Given the description of an element on the screen output the (x, y) to click on. 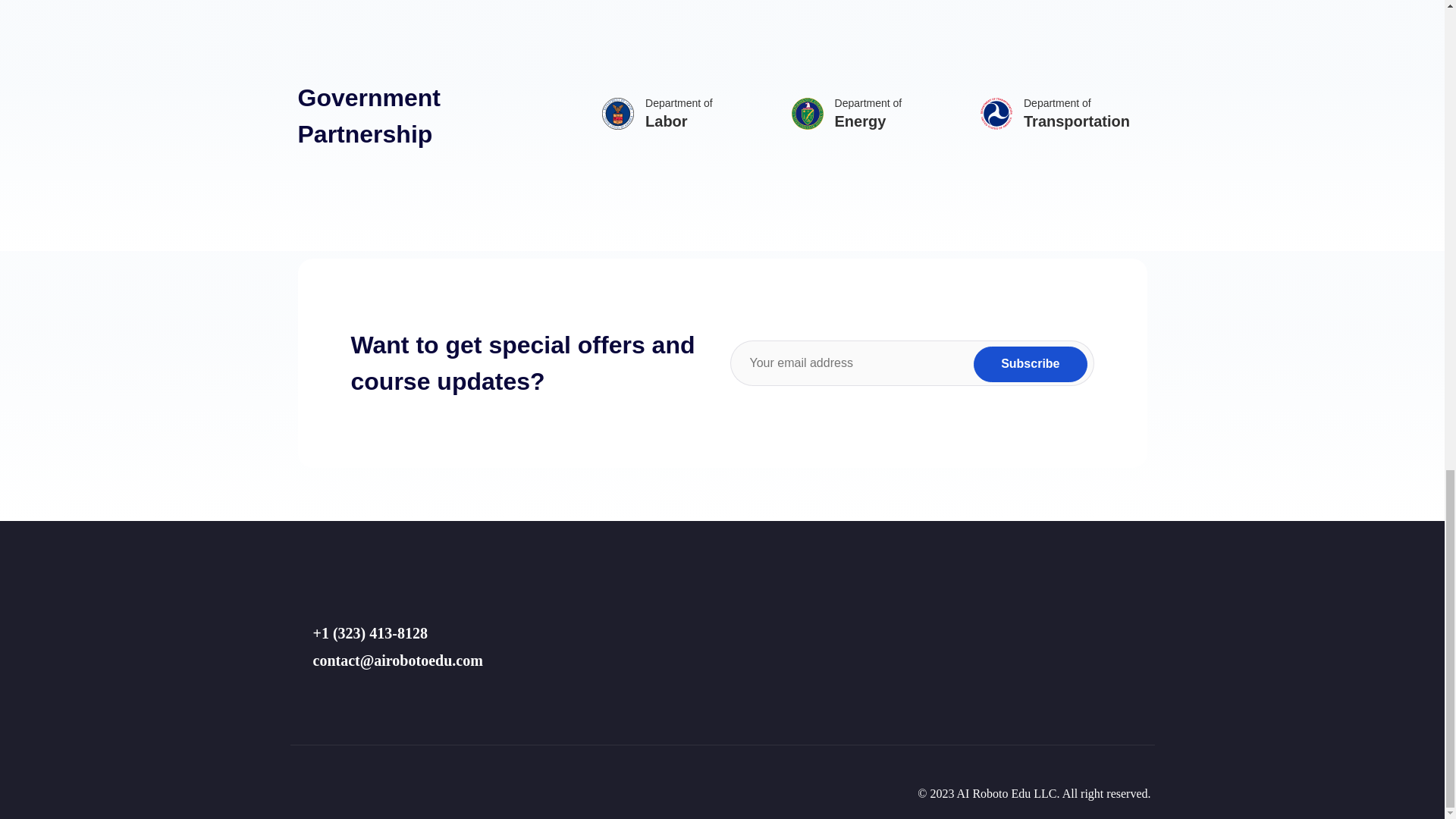
Subscribe (1030, 364)
Subscribe (1030, 364)
